Given the description of an element on the screen output the (x, y) to click on. 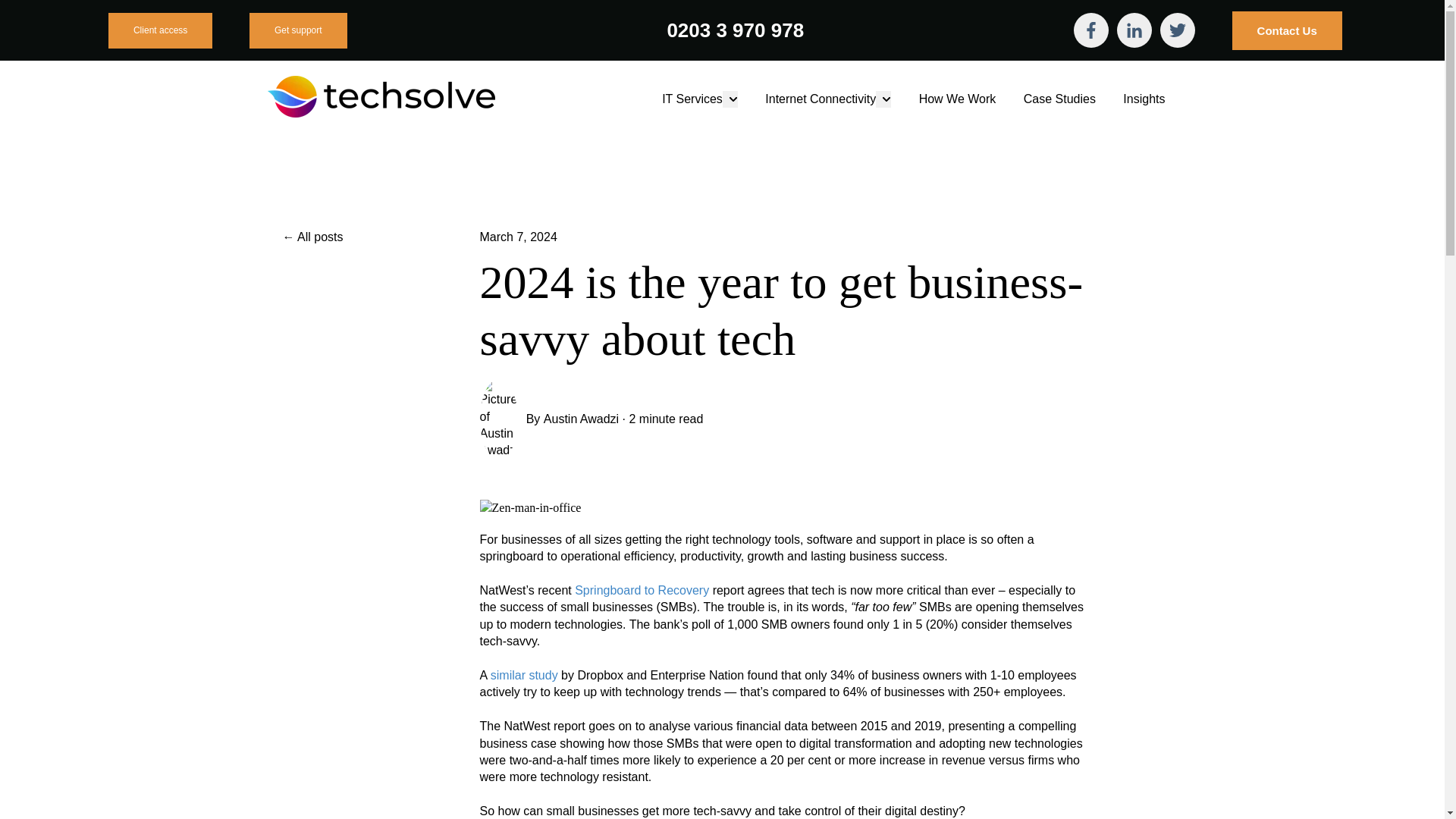
Insights (1143, 98)
Show submenu for Internet Connectivity (883, 98)
Get support (297, 30)
Client access (159, 30)
Show submenu for IT Services (730, 98)
0203 3 970 978 (735, 30)
IT Services (692, 98)
Contact Us (1286, 30)
Internet Connectivity (820, 98)
Case Studies (1059, 98)
